Given the description of an element on the screen output the (x, y) to click on. 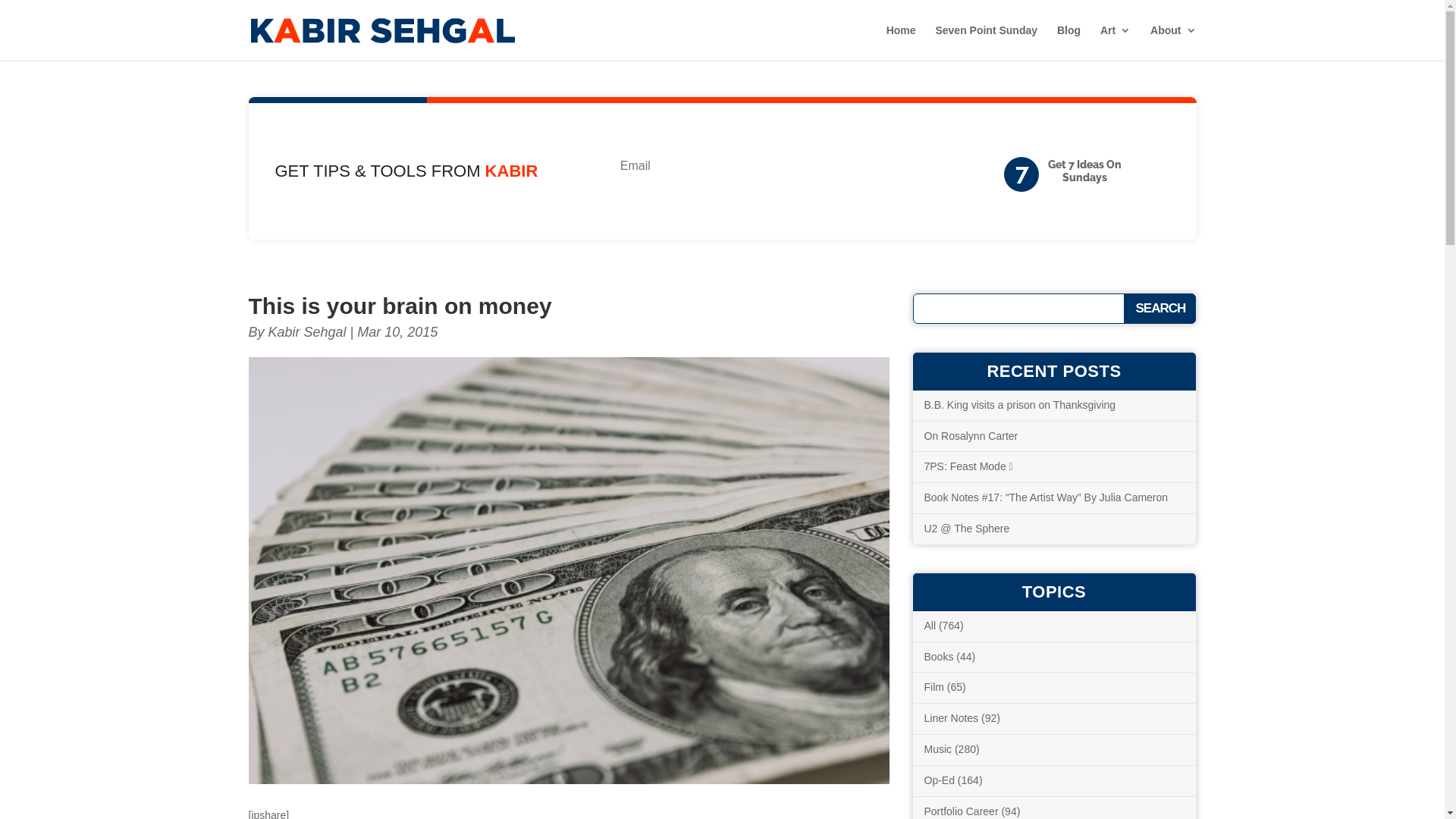
Portfolio Career Element type: text (960, 811)
Search Element type: text (1159, 308)
On Rosalynn Carter Element type: text (970, 435)
Music Element type: text (937, 749)
Art Element type: text (1115, 42)
U2 @ The Sphere Element type: text (966, 528)
Liner Notes Element type: text (950, 718)
About Element type: text (1172, 42)
Home Element type: text (901, 42)
Money Element type: hover (568, 570)
Seven Point Sunday Element type: text (986, 42)
Film Element type: text (933, 686)
All Element type: text (929, 625)
Kabir Sehgal Element type: text (307, 331)
Books Element type: text (938, 656)
Op-Ed Element type: text (938, 780)
B.B. King visits a prison on Thanksgiving Element type: text (1019, 404)
Blog Element type: text (1068, 42)
Get Access! Element type: text (833, 170)
